Given the description of an element on the screen output the (x, y) to click on. 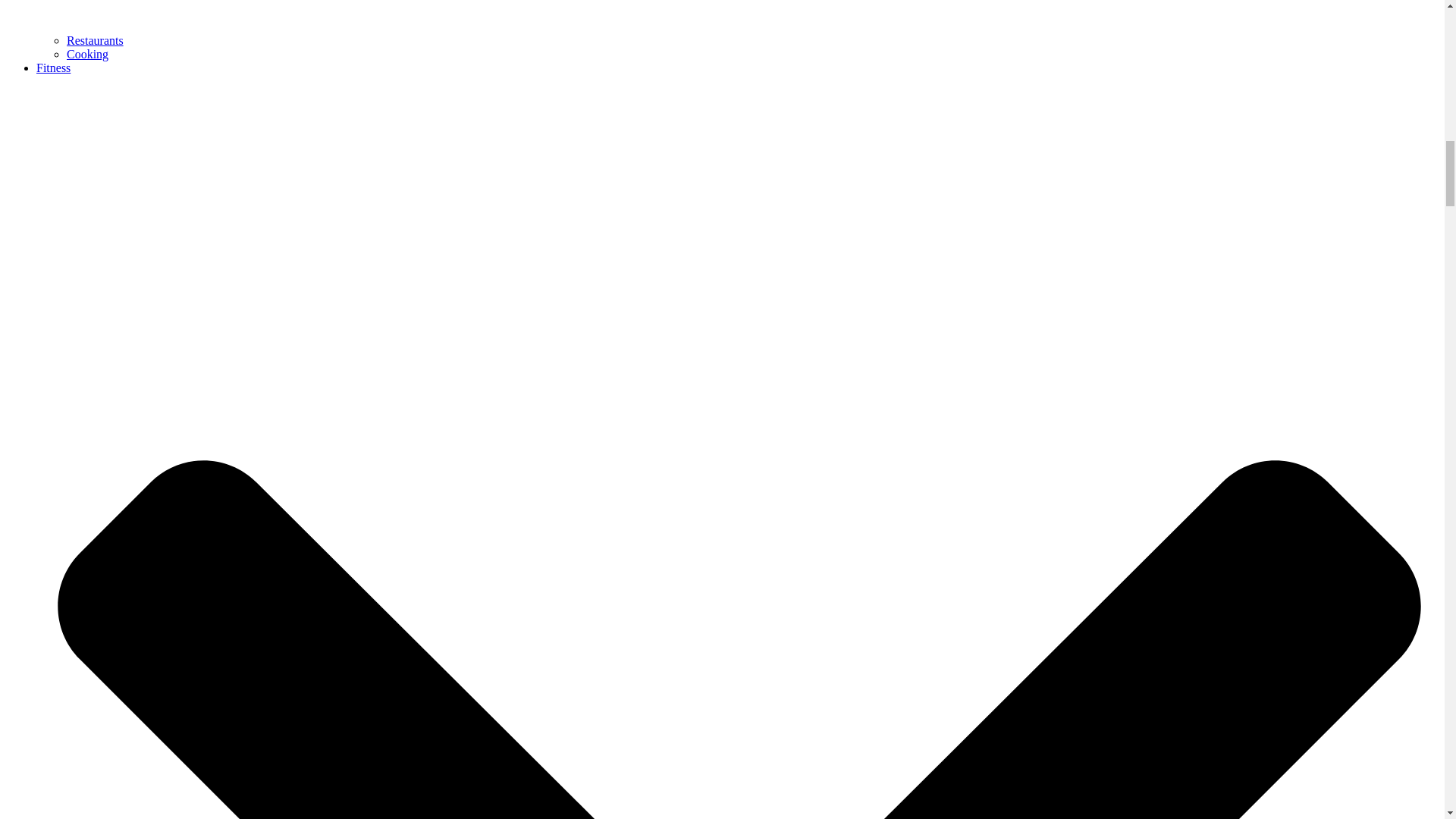
Cooking (86, 53)
Restaurants (94, 40)
Fitness (52, 67)
